Given the description of an element on the screen output the (x, y) to click on. 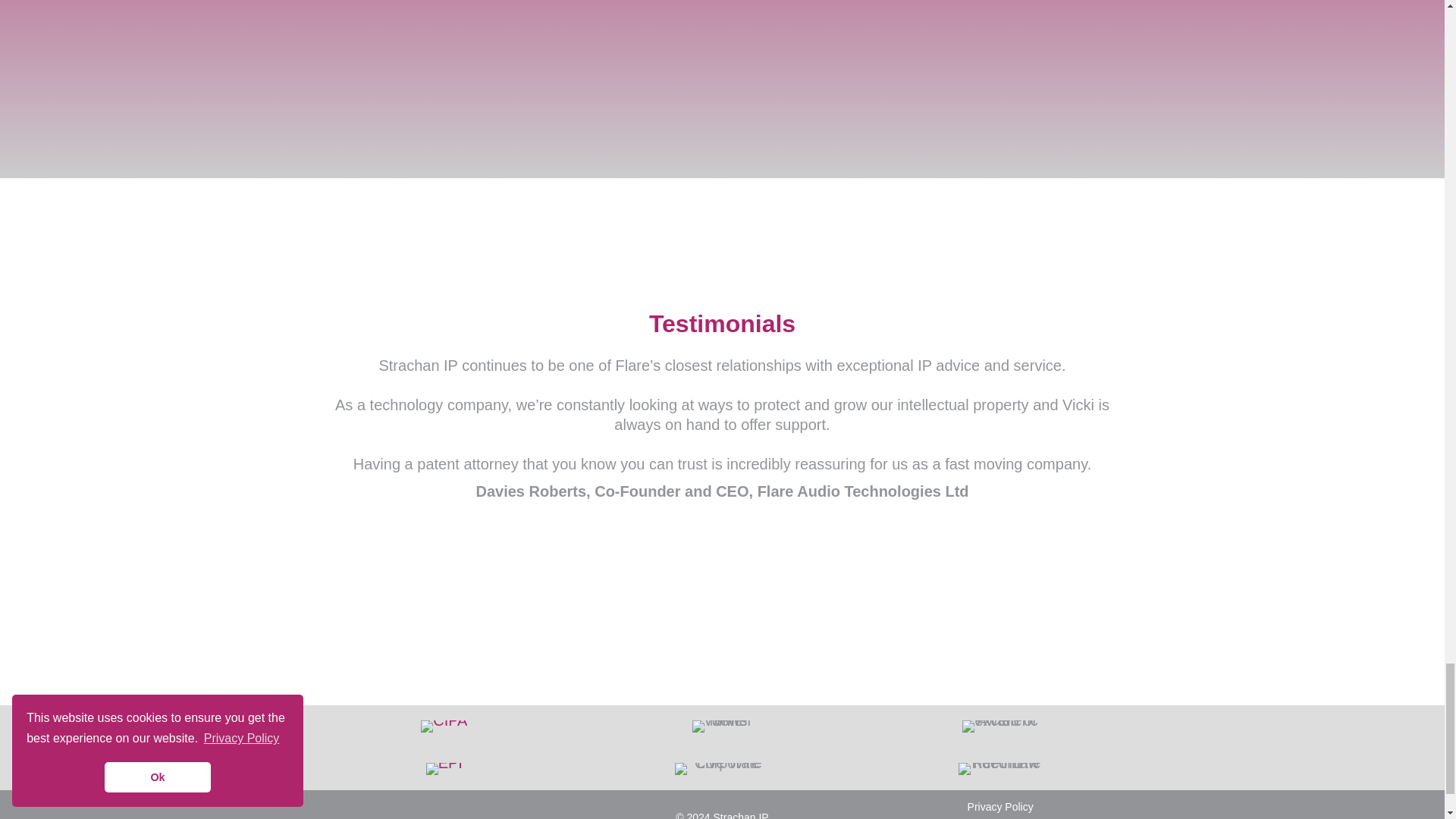
Privacy Policy (1000, 806)
